Given the description of an element on the screen output the (x, y) to click on. 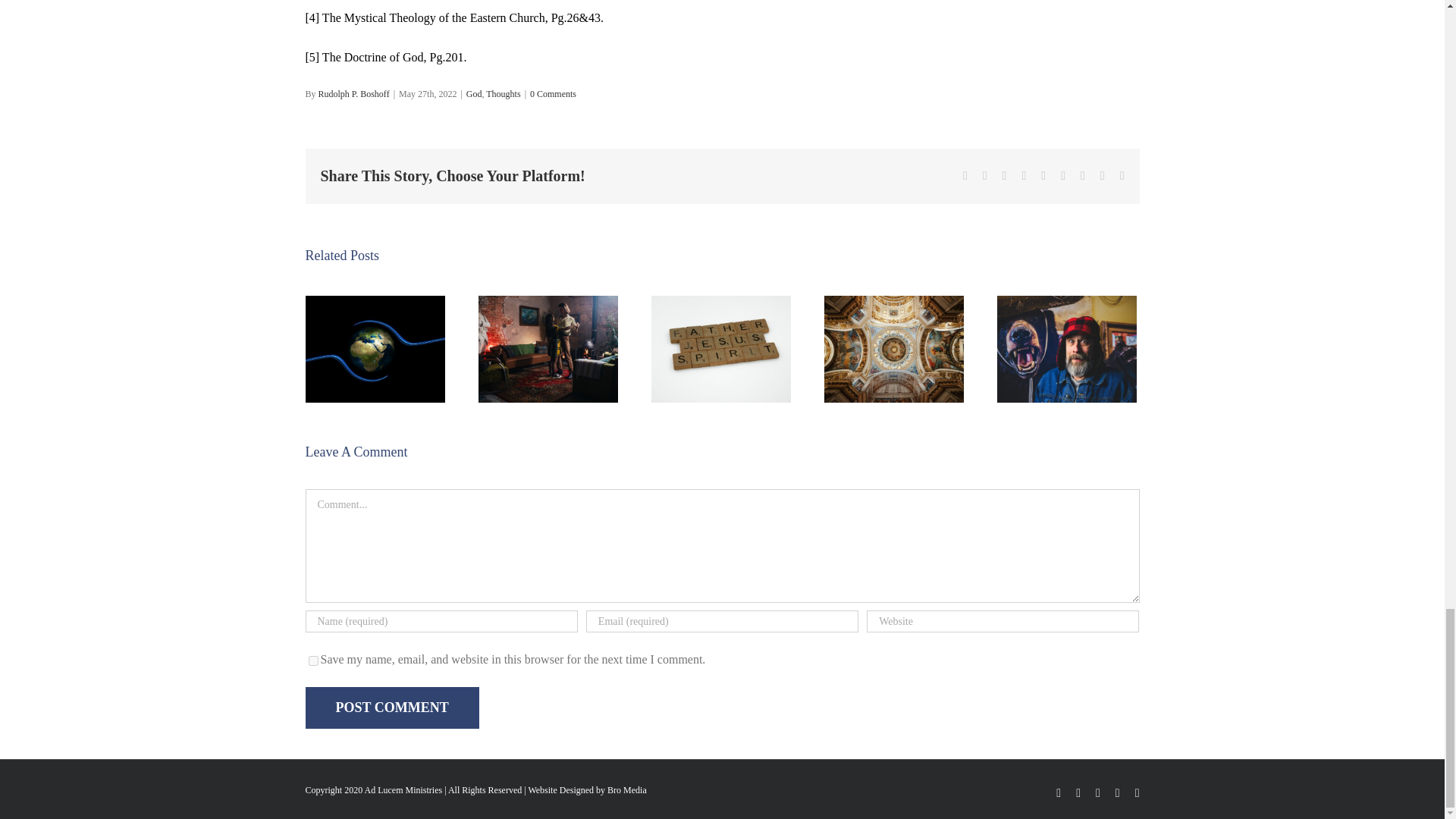
yes (312, 660)
Post Comment (391, 707)
Posts by Rudolph P. Boshoff (354, 93)
